Given the description of an element on the screen output the (x, y) to click on. 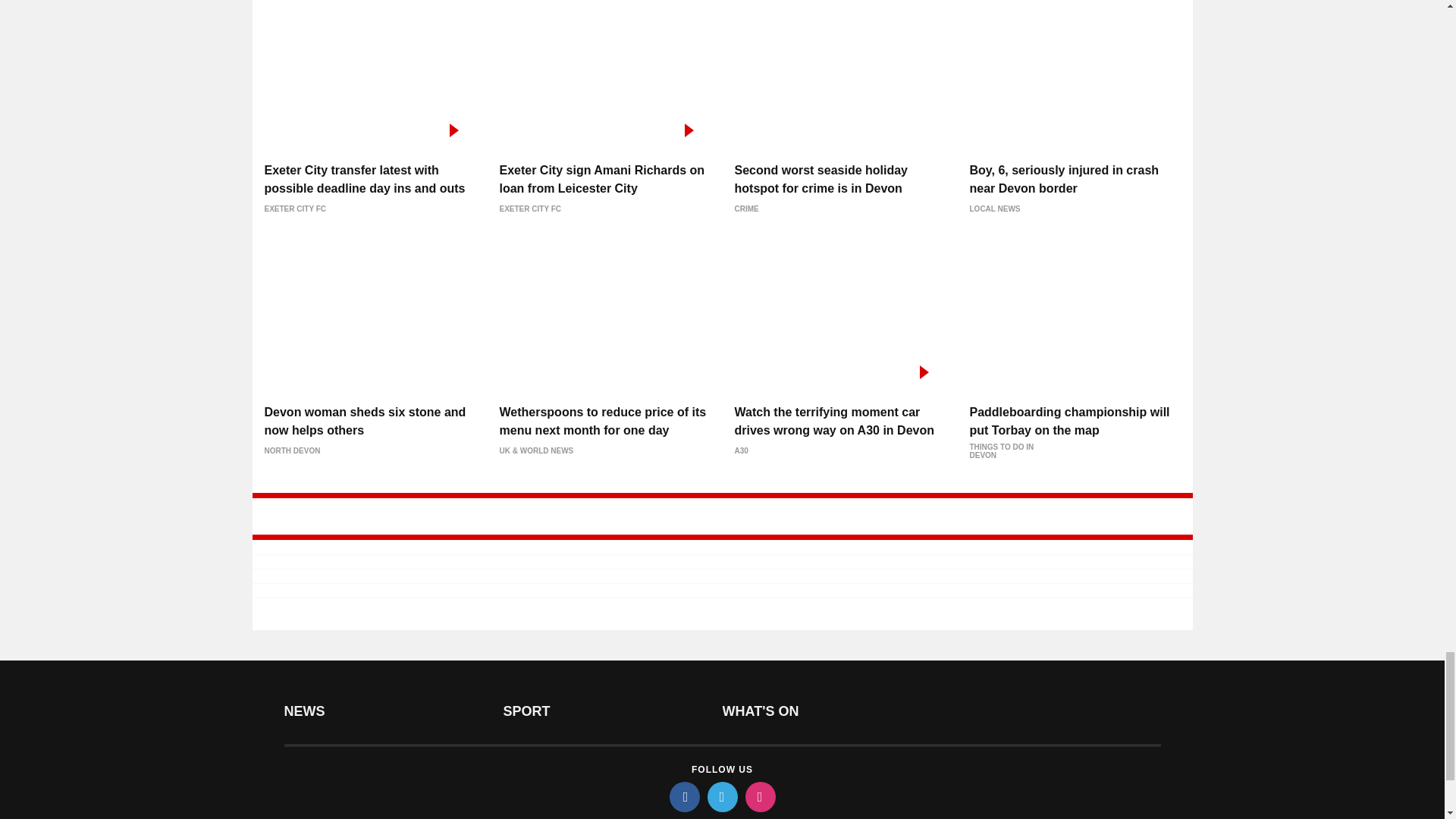
facebook (683, 797)
twitter (721, 797)
instagram (759, 797)
